Given the description of an element on the screen output the (x, y) to click on. 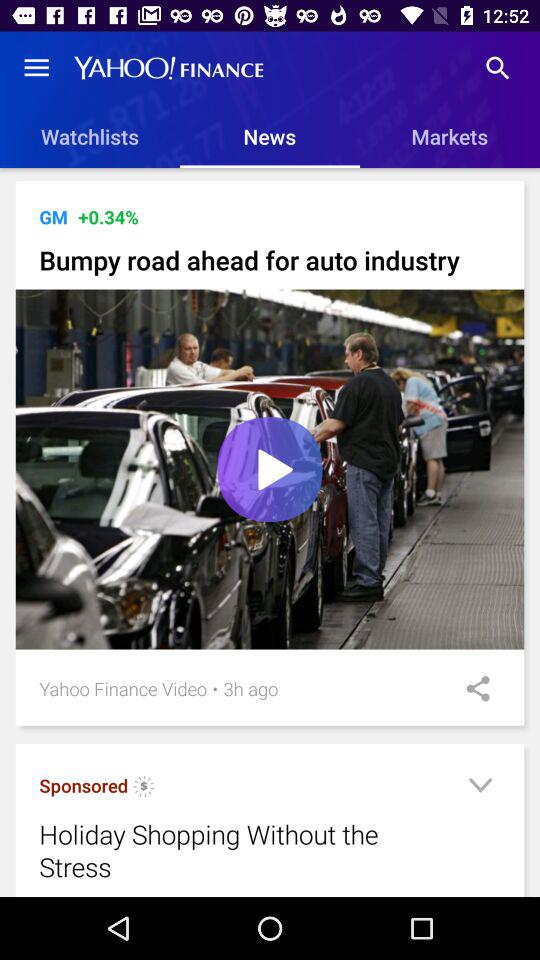
click the icon to the right of the gm icon (108, 216)
